Given the description of an element on the screen output the (x, y) to click on. 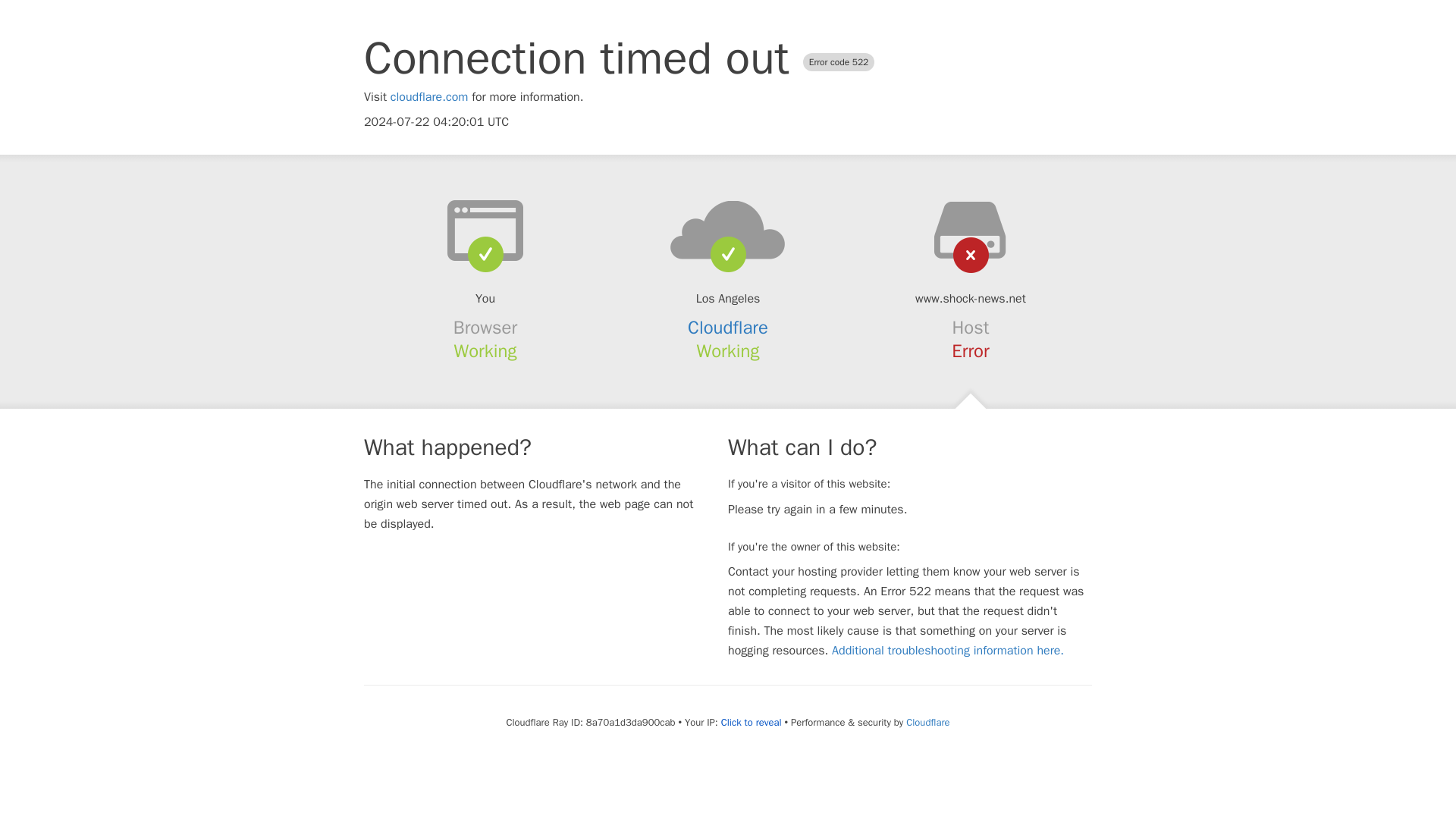
Cloudflare (927, 721)
Cloudflare (727, 327)
cloudflare.com (429, 96)
Additional troubleshooting information here. (947, 650)
Click to reveal (750, 722)
